Given the description of an element on the screen output the (x, y) to click on. 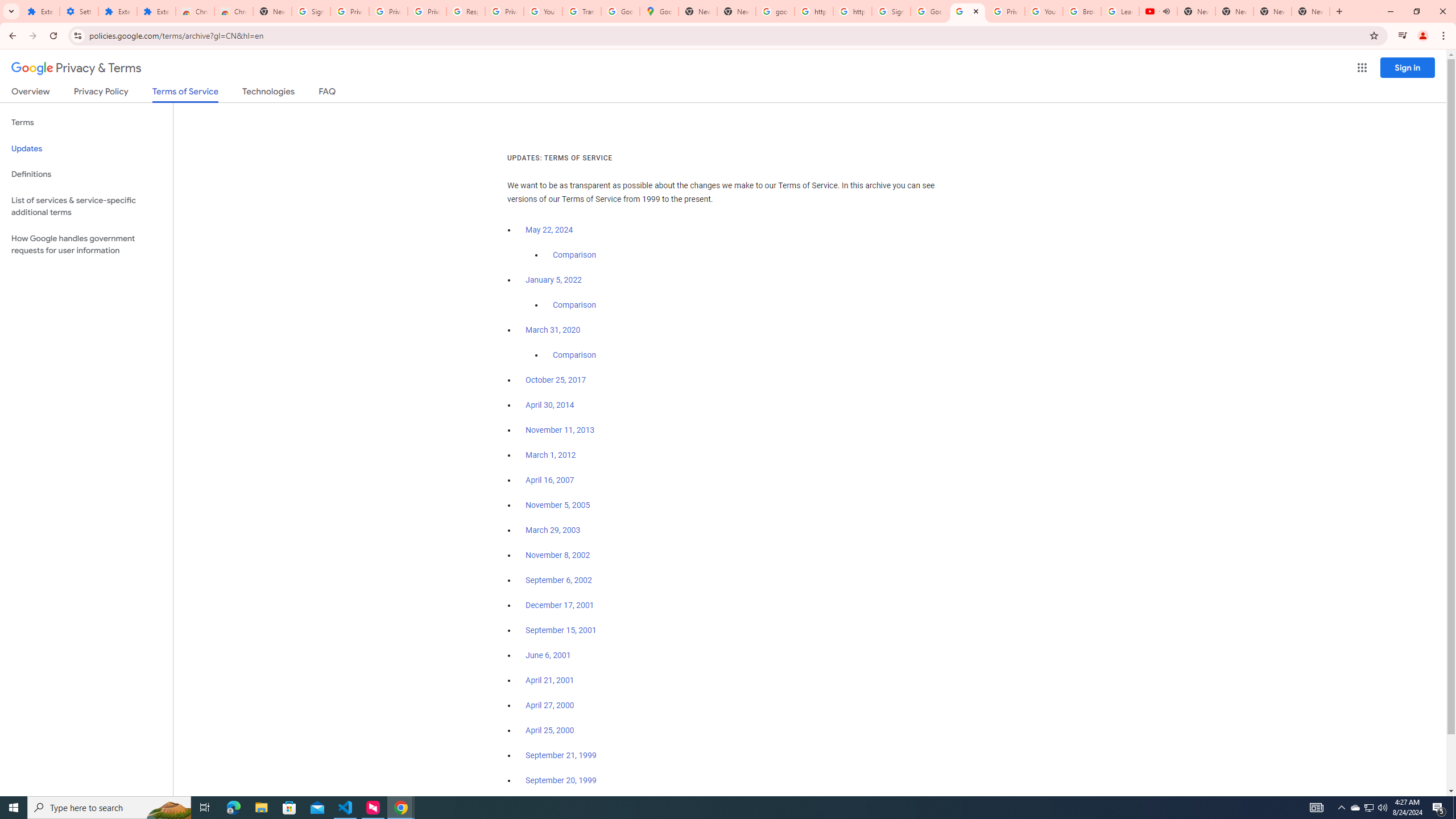
November 11, 2013 (560, 430)
Extensions (156, 11)
https://scholar.google.com/ (813, 11)
September 20, 1999 (560, 780)
June 6, 2001 (547, 655)
https://scholar.google.com/ (852, 11)
